Given the description of an element on the screen output the (x, y) to click on. 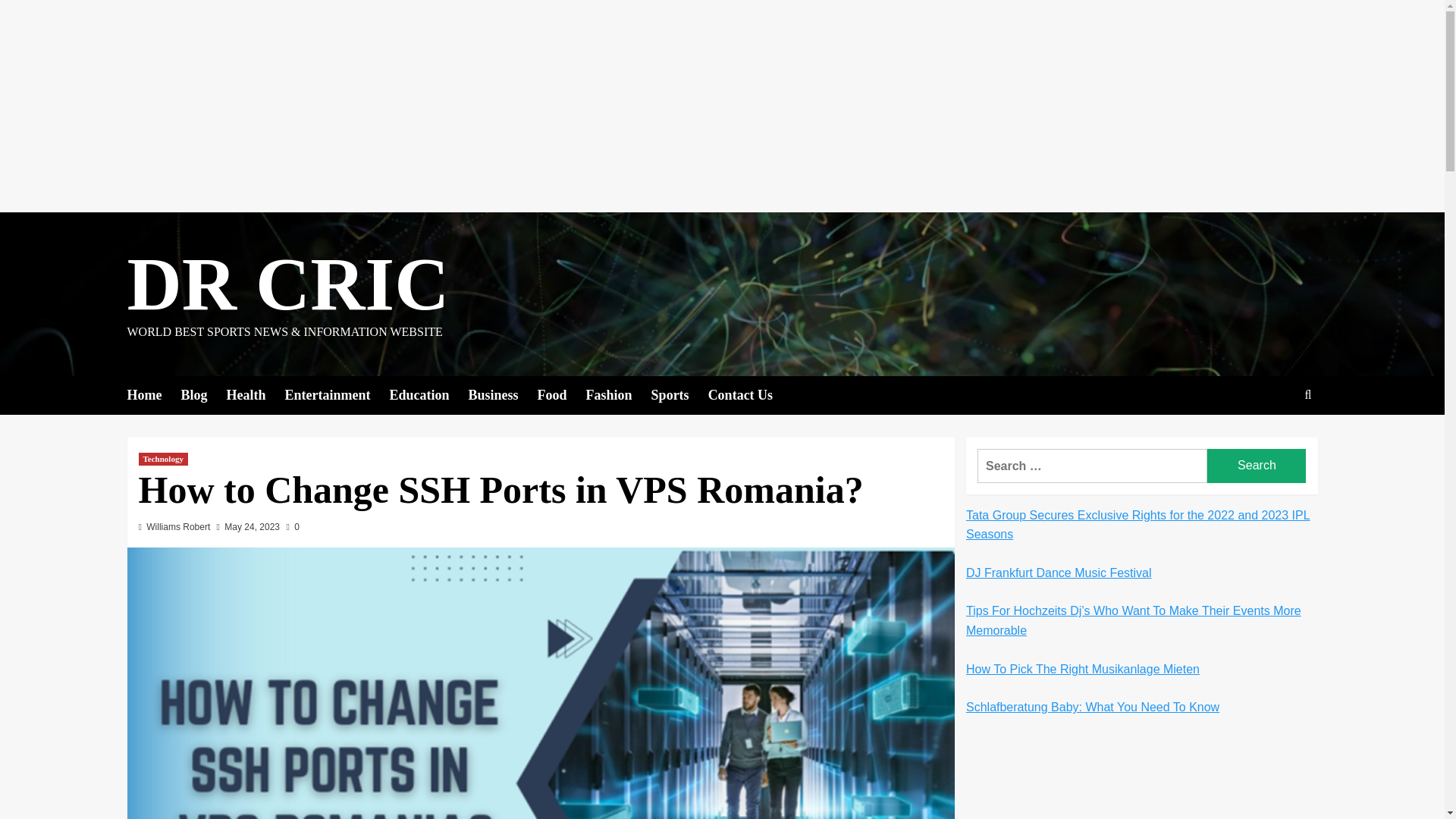
Fashion (618, 394)
Education (427, 394)
Blog (202, 394)
Search (1272, 441)
Williams Robert (178, 526)
Technology (162, 459)
DR CRIC (288, 283)
Contact Us (749, 394)
0 (291, 526)
Business (502, 394)
